Given the description of an element on the screen output the (x, y) to click on. 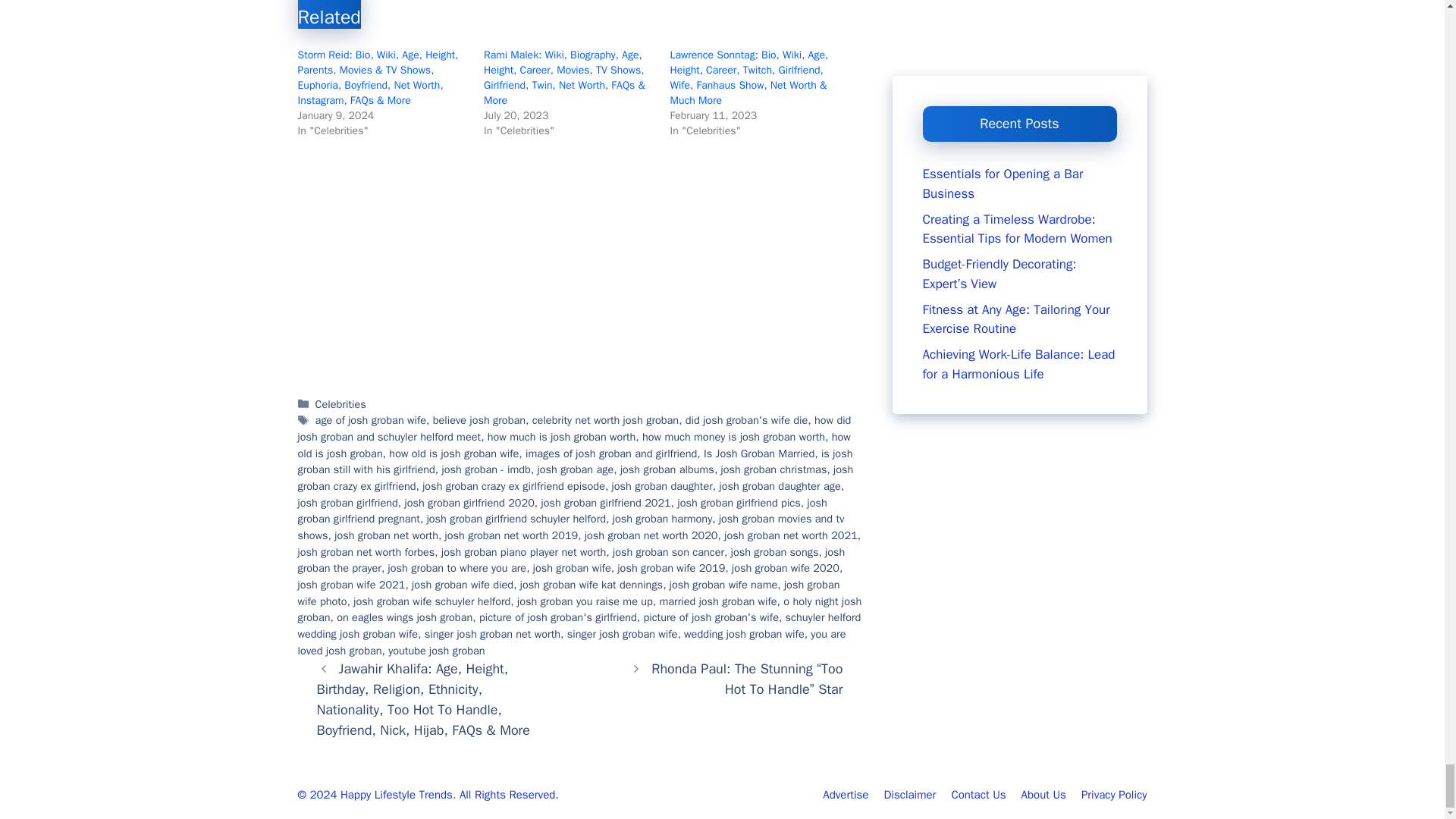
josh groban girlfriend (347, 502)
josh groban crazy ex girlfriend (575, 477)
how much is josh groban worth (561, 436)
how did josh groban and schuyler helford meet (573, 428)
how old is josh groban wife (453, 453)
images of josh groban and girlfriend (611, 453)
josh groban - imdb (486, 468)
josh groban girlfriend 2021 (604, 502)
josh groban crazy ex girlfriend episode (513, 486)
josh groban girlfriend pics (738, 502)
how old is josh groban (573, 444)
josh groban girlfriend pregnant (562, 511)
celebrity net worth josh groban (605, 419)
is josh groban still with his girlfriend (574, 461)
how much money is josh groban worth (733, 436)
